Given the description of an element on the screen output the (x, y) to click on. 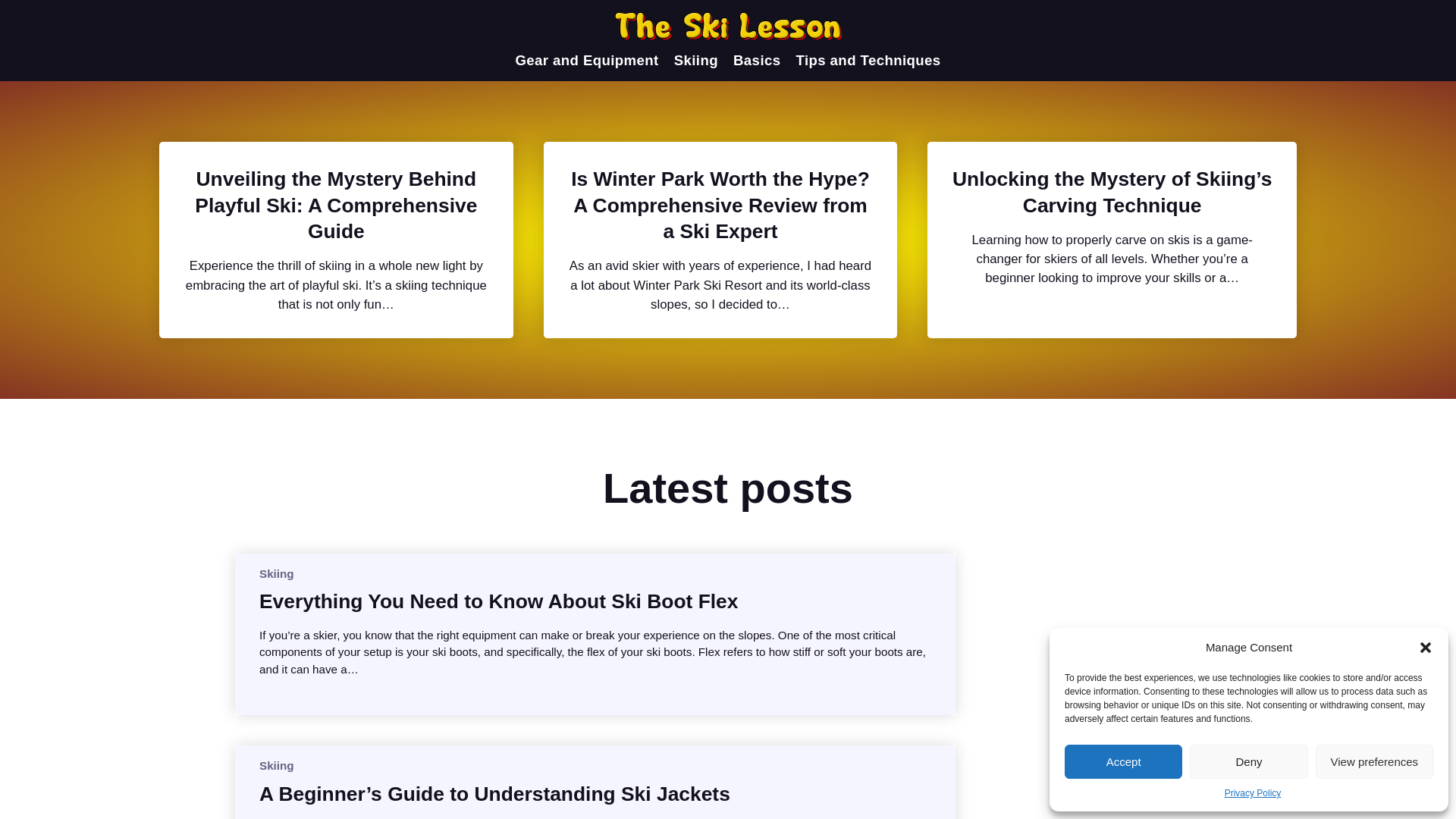
Basics (756, 60)
Skiing (276, 573)
Deny (1248, 761)
Tips and Techniques (867, 60)
Skiing (695, 60)
Privacy Policy (1252, 793)
Skiing (276, 765)
Accept (1123, 761)
